Given the description of an element on the screen output the (x, y) to click on. 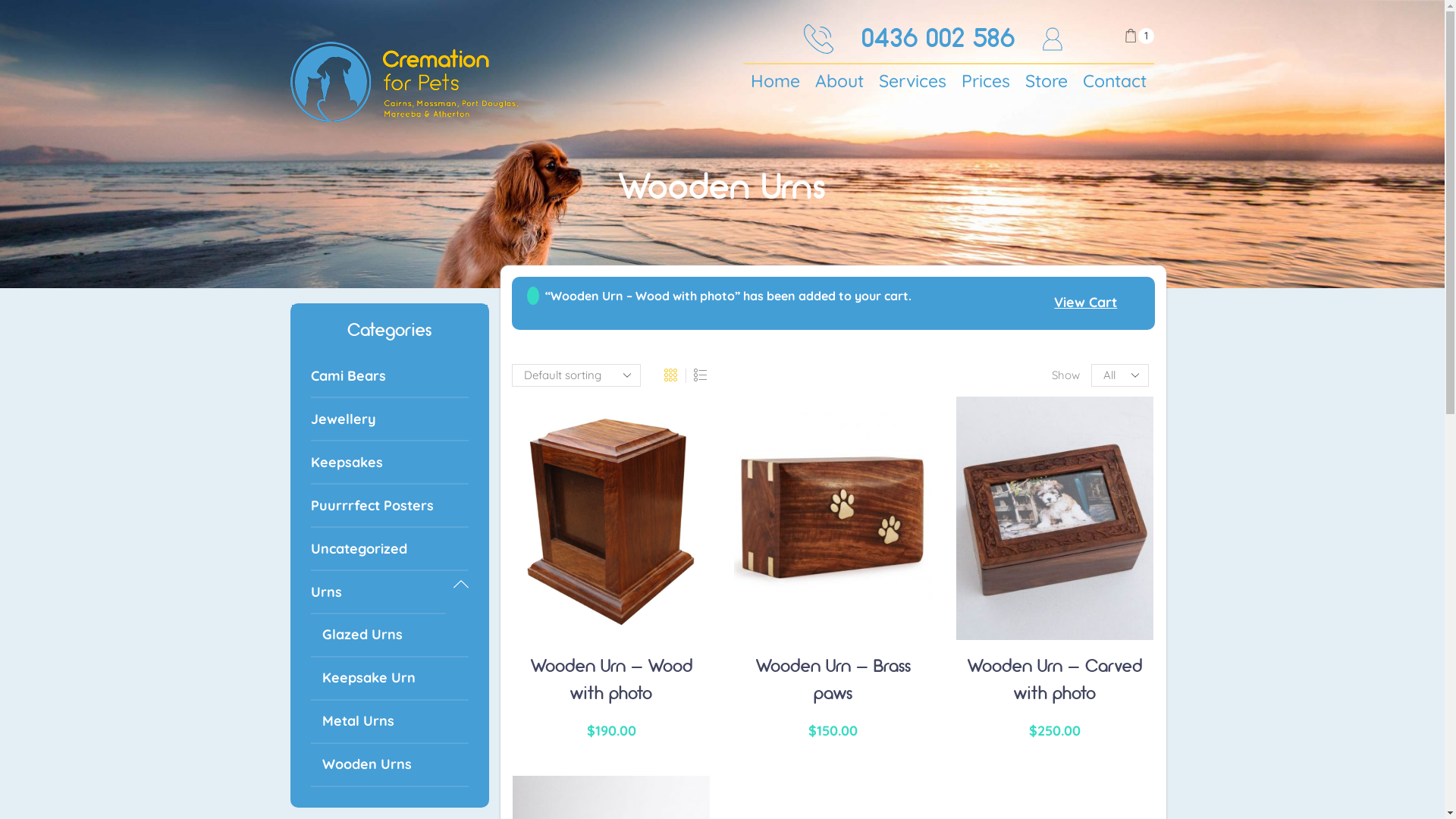
Puurrrfect Posters Element type: text (389, 505)
About Element type: text (839, 81)
Metal Urns Element type: text (389, 721)
View Cart Element type: text (1085, 303)
Cami Bears Element type: text (389, 376)
Wooden Urns Element type: text (389, 765)
Jewellery Element type: text (389, 419)
Store Element type: text (1046, 81)
Keepsakes Element type: text (389, 462)
Home Element type: text (775, 81)
1 Element type: text (1138, 35)
Prices Element type: text (985, 81)
Contact Element type: text (1114, 81)
Services Element type: text (912, 81)
Keepsake Urn Element type: text (389, 678)
Awwwards Element type: text (1410, 142)
Uncategorized Element type: text (389, 549)
Urns Element type: text (378, 592)
Glazed Urns Element type: text (389, 635)
